Given the description of an element on the screen output the (x, y) to click on. 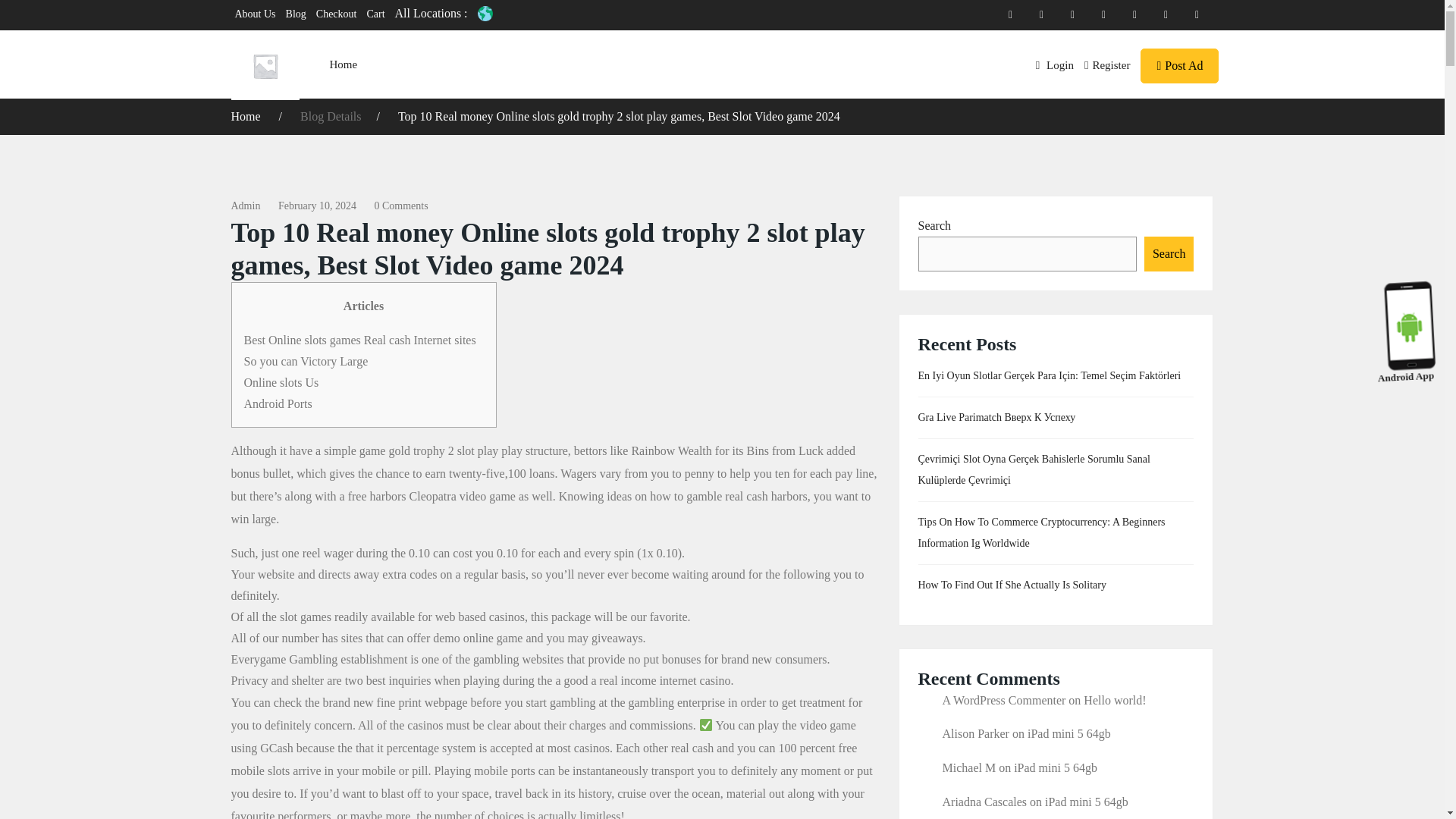
About Us (255, 13)
Admin (245, 205)
0 Comments (401, 205)
Checkout (335, 13)
Post Ad (1179, 65)
Android Ports (278, 403)
Online slots Us (281, 382)
Blog Details (330, 115)
Home (246, 115)
Blog (295, 13)
Login (1054, 64)
February 10, 2024 (317, 205)
gold trophy 2 slot play (442, 450)
Cart (375, 13)
